Given the description of an element on the screen output the (x, y) to click on. 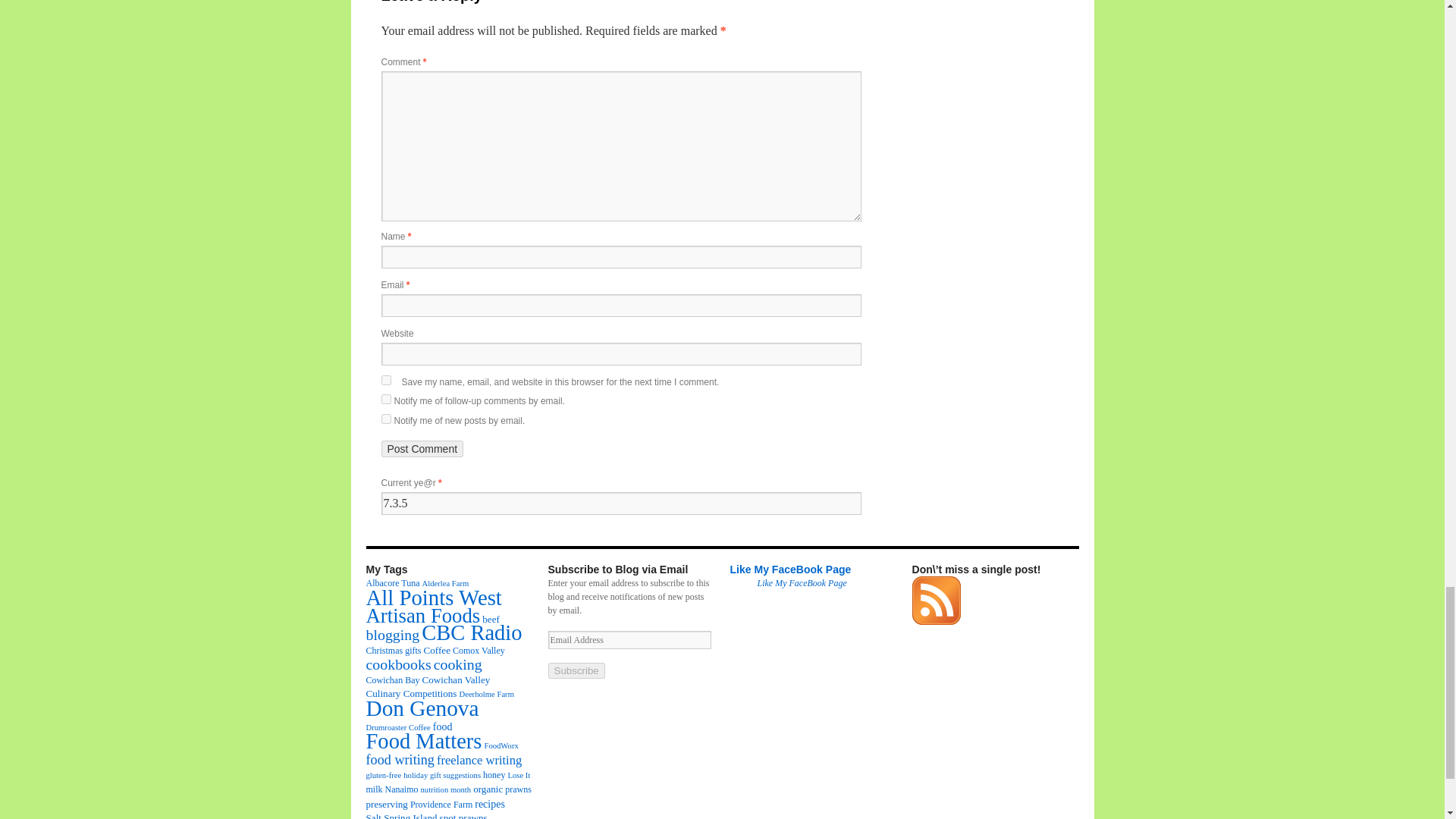
7.3.5 (620, 503)
yes (385, 379)
Subscribe to posts (935, 621)
subscribe (385, 398)
Post Comment (421, 448)
subscribe (385, 419)
Post Comment (421, 448)
